Given the description of an element on the screen output the (x, y) to click on. 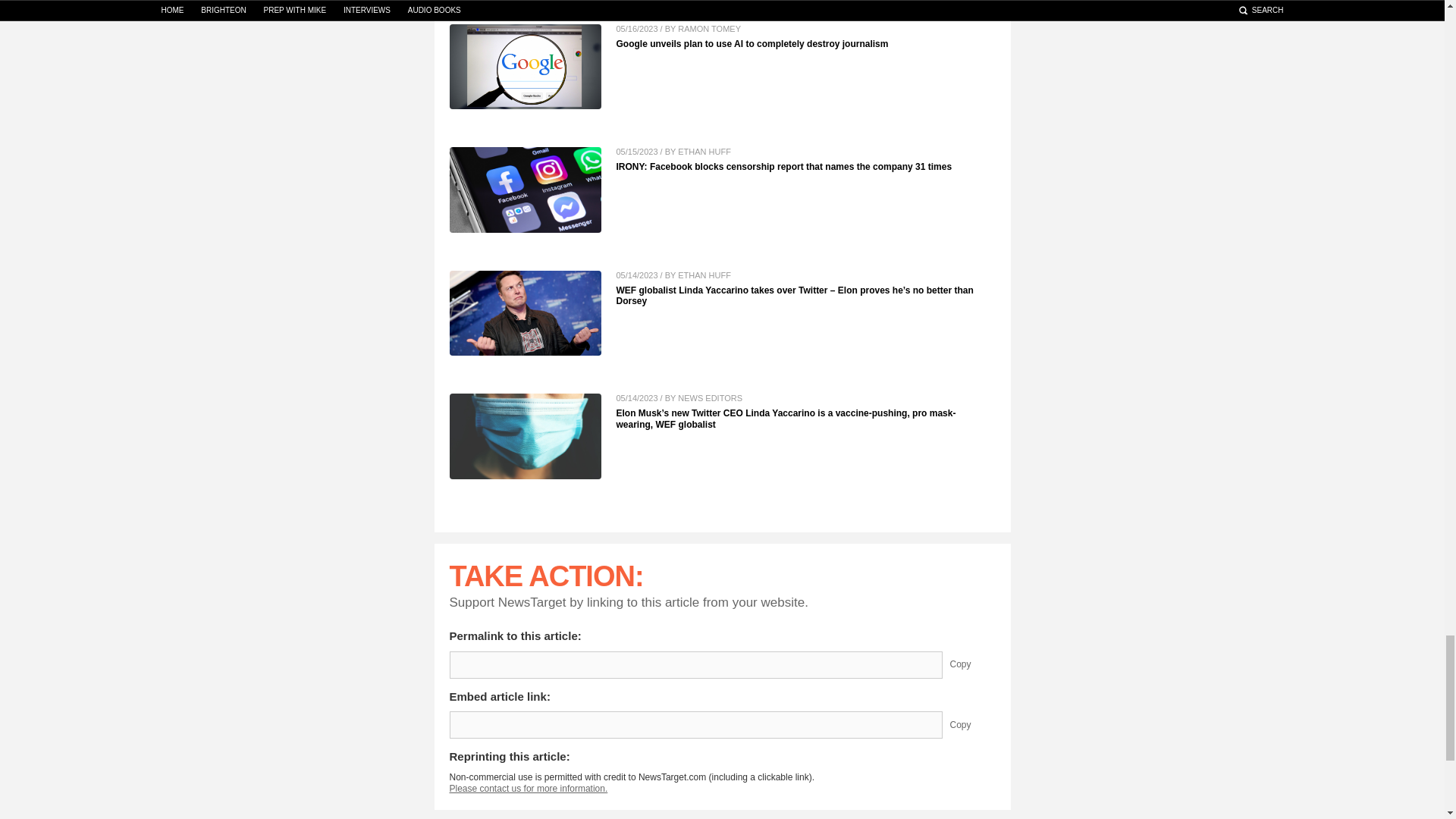
Copy Permalink (971, 664)
Copy Embed Link (971, 724)
